Given the description of an element on the screen output the (x, y) to click on. 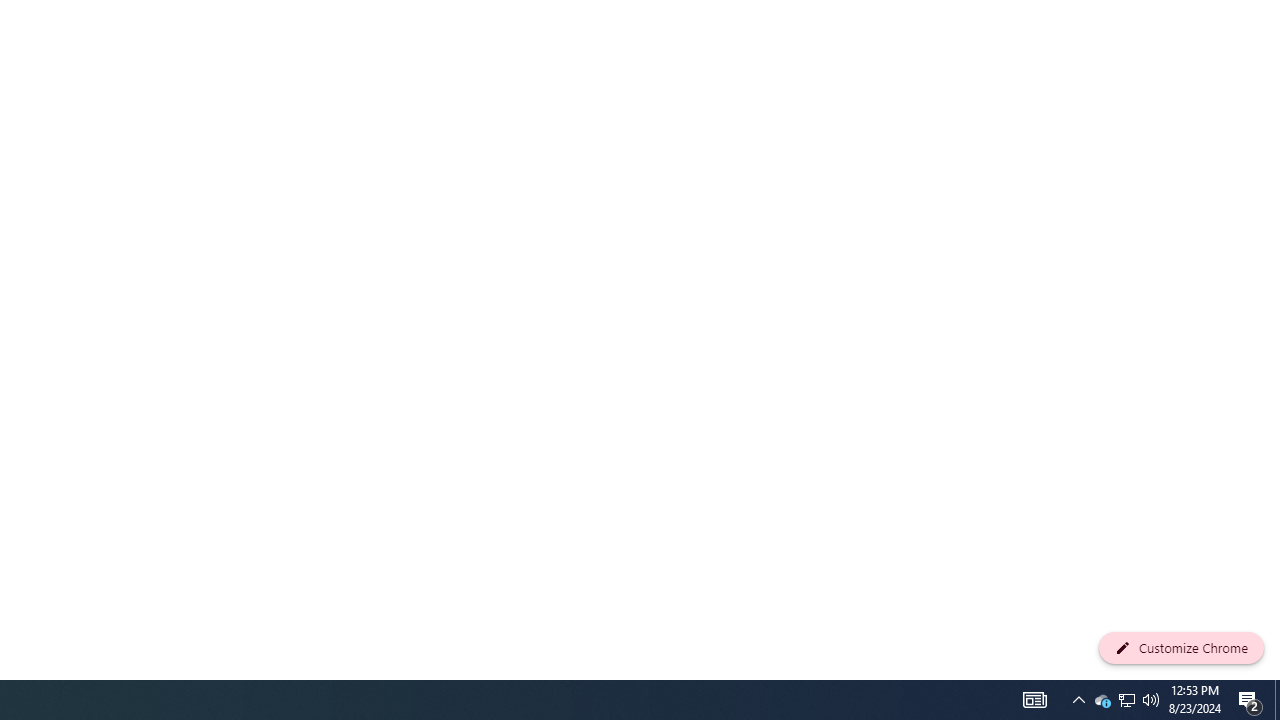
Customize Chrome (1181, 647)
